Given the description of an element on the screen output the (x, y) to click on. 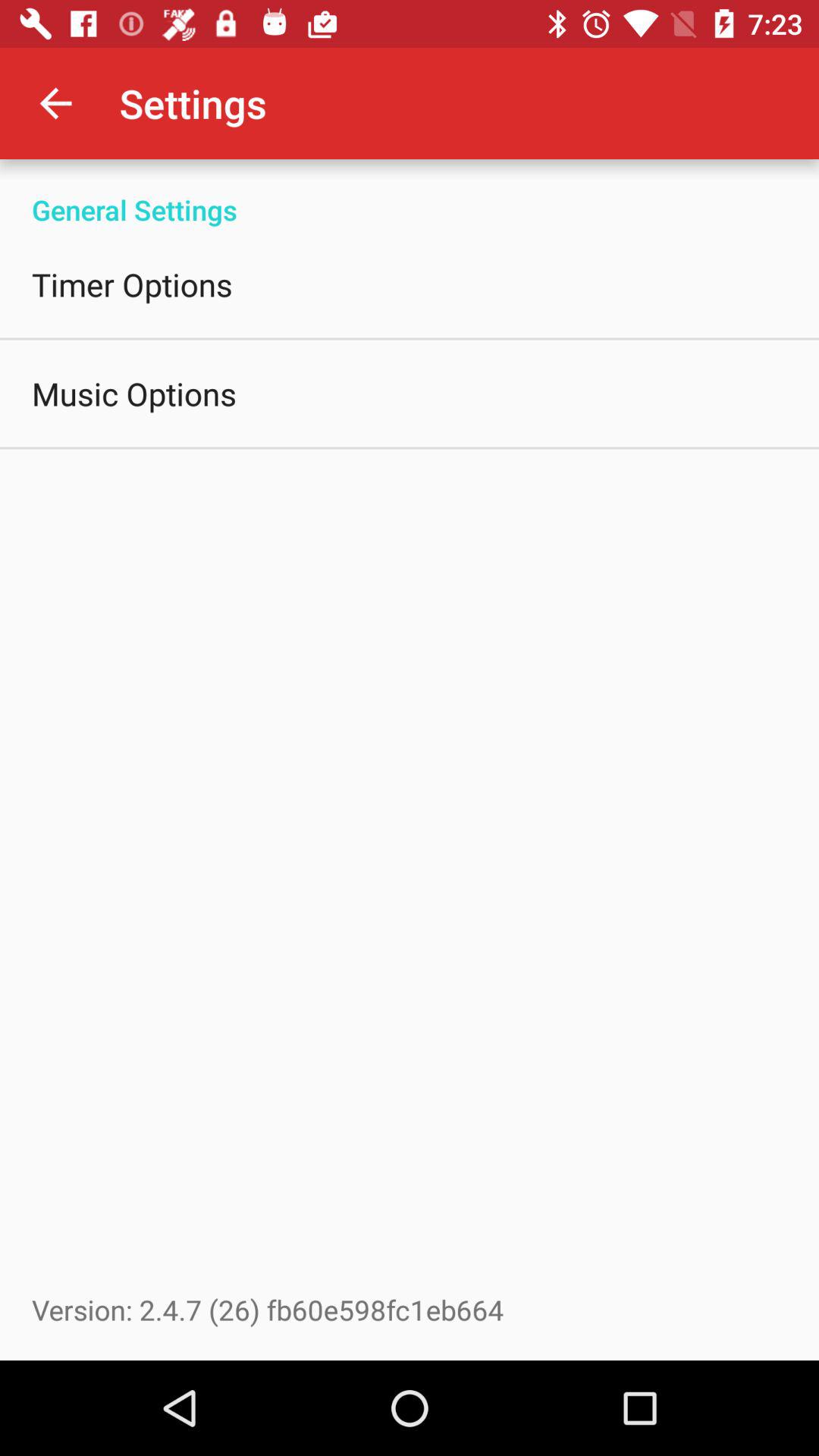
select the item above timer options icon (409, 193)
